Given the description of an element on the screen output the (x, y) to click on. 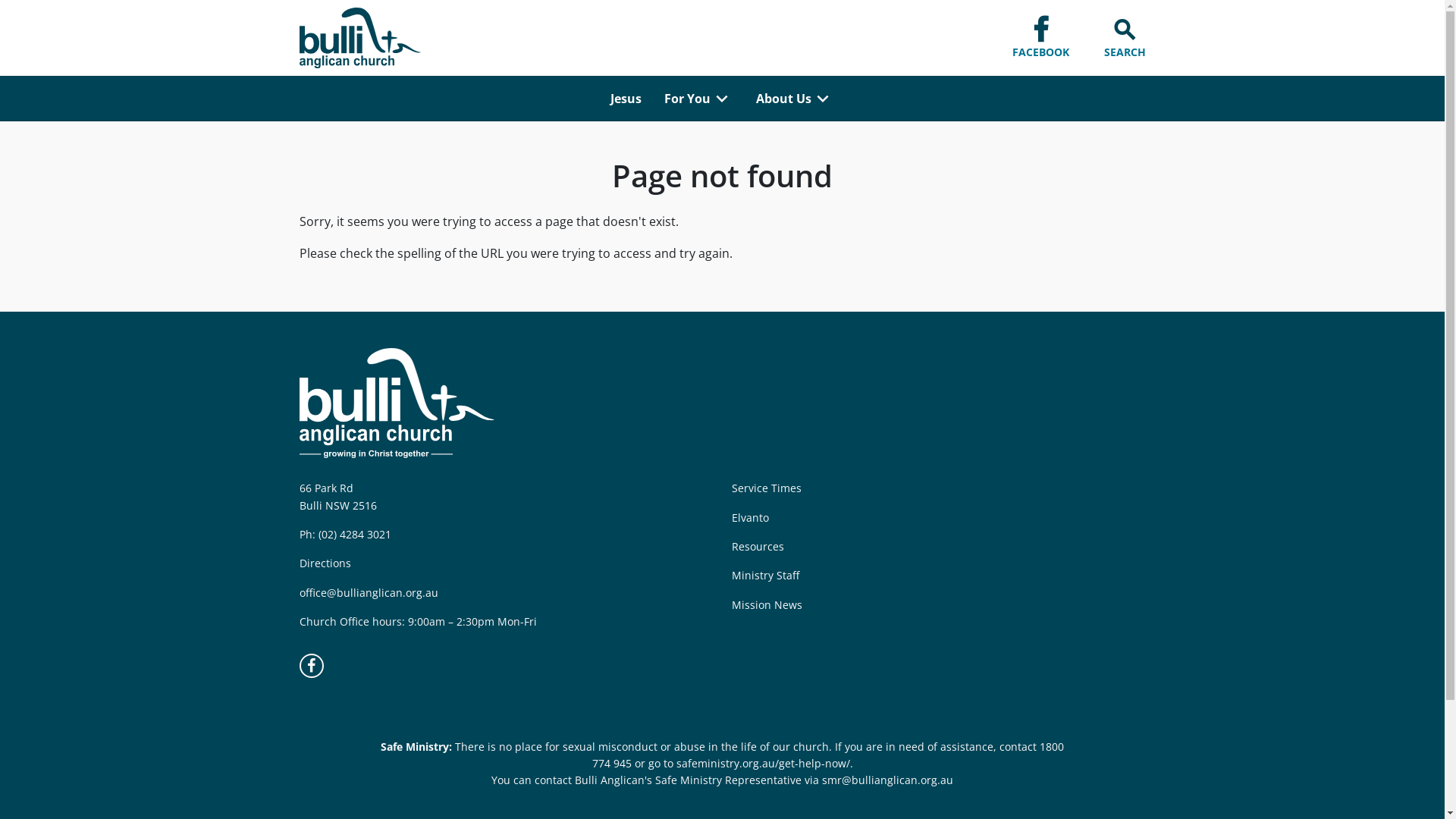
Resources Element type: text (757, 546)
Facebook Element type: text (310, 665)
expand_more Element type: text (721, 97)
office@bullianglican.org.au Element type: text (367, 592)
Jesus Element type: text (625, 98)
About Us Element type: text (783, 98)
smr@bullianglican.org.au Element type: text (887, 779)
Elvanto Element type: text (749, 517)
Facebook F Element type: hover (1040, 29)
For You Element type: text (687, 98)
FACEBOOK Element type: text (1036, 37)
safeministry.org.au/get-help-now/ Element type: text (763, 763)
Ministry Staff Element type: text (764, 574)
Service Times Element type: text (765, 487)
Directions Element type: text (324, 562)
search
SEARCH Element type: text (1120, 37)
expand_more Element type: text (822, 97)
Mission News Element type: text (766, 604)
